Given the description of an element on the screen output the (x, y) to click on. 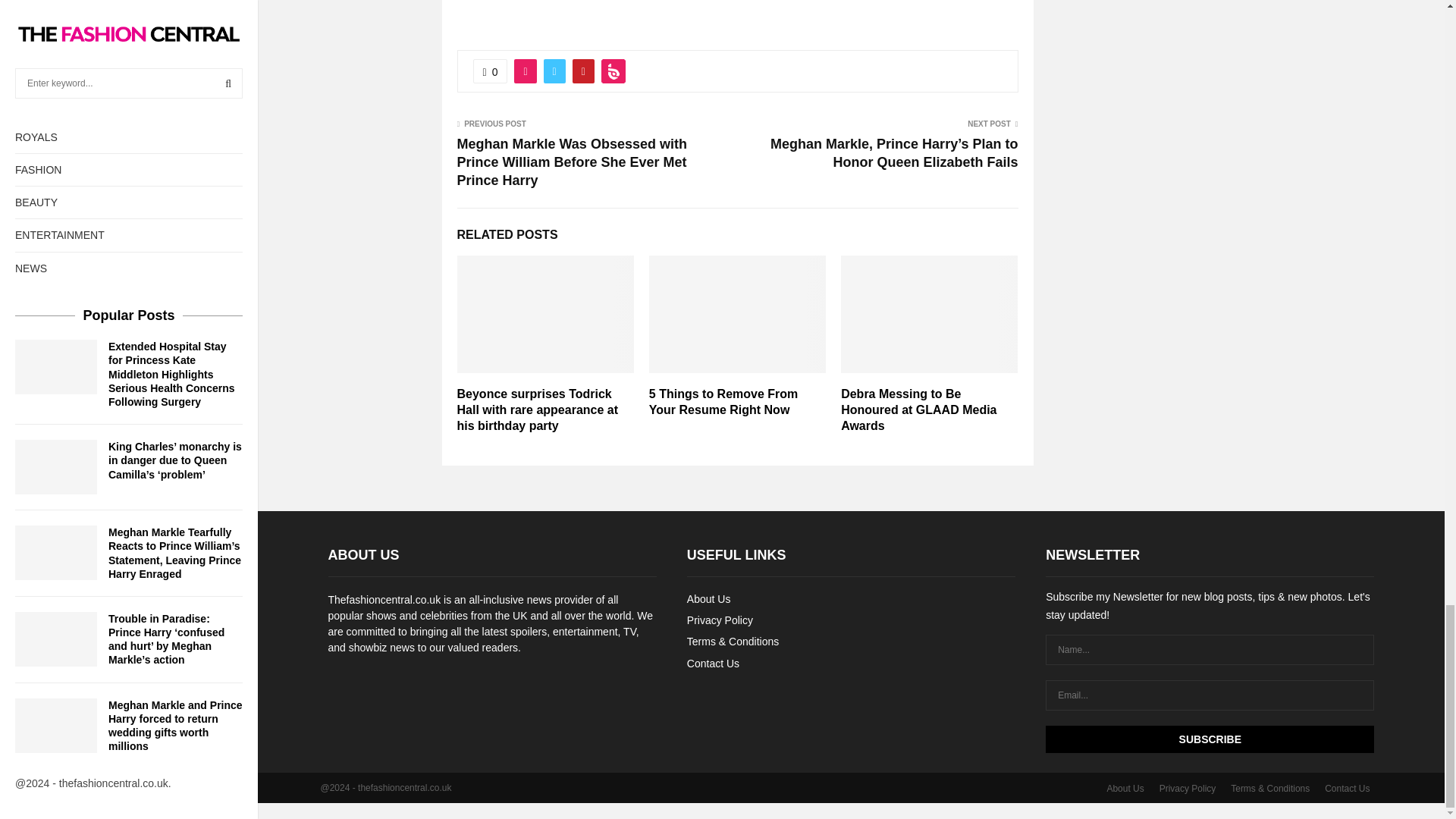
Subscribe (1209, 738)
0 (490, 70)
